Given the description of an element on the screen output the (x, y) to click on. 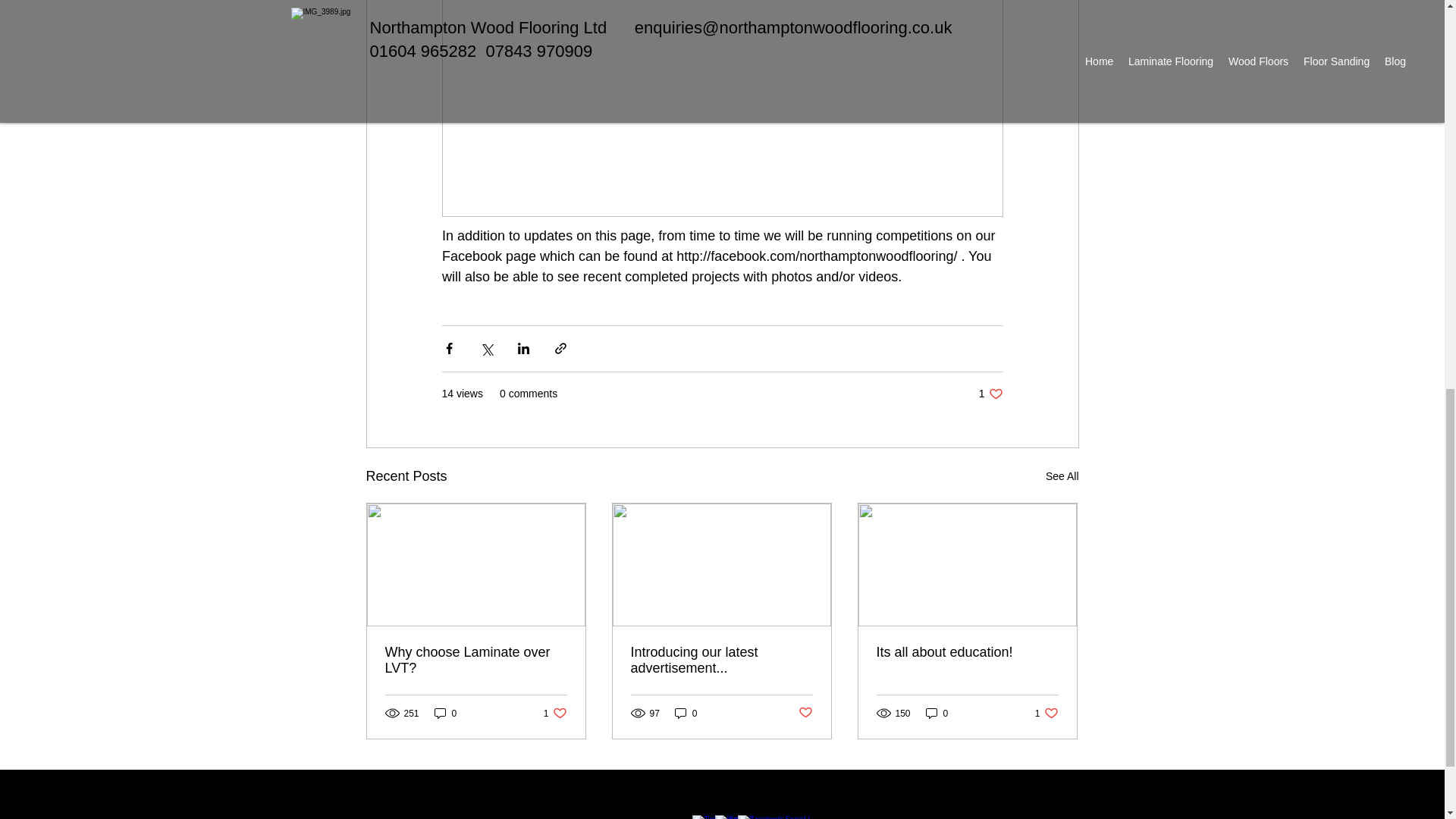
0 (937, 712)
Post not marked as liked (804, 713)
Introducing our latest advertisement... (1046, 712)
Its all about education! (721, 660)
0 (967, 652)
Why choose Laminate over LVT? (445, 712)
0 (476, 660)
See All (685, 712)
